Given the description of an element on the screen output the (x, y) to click on. 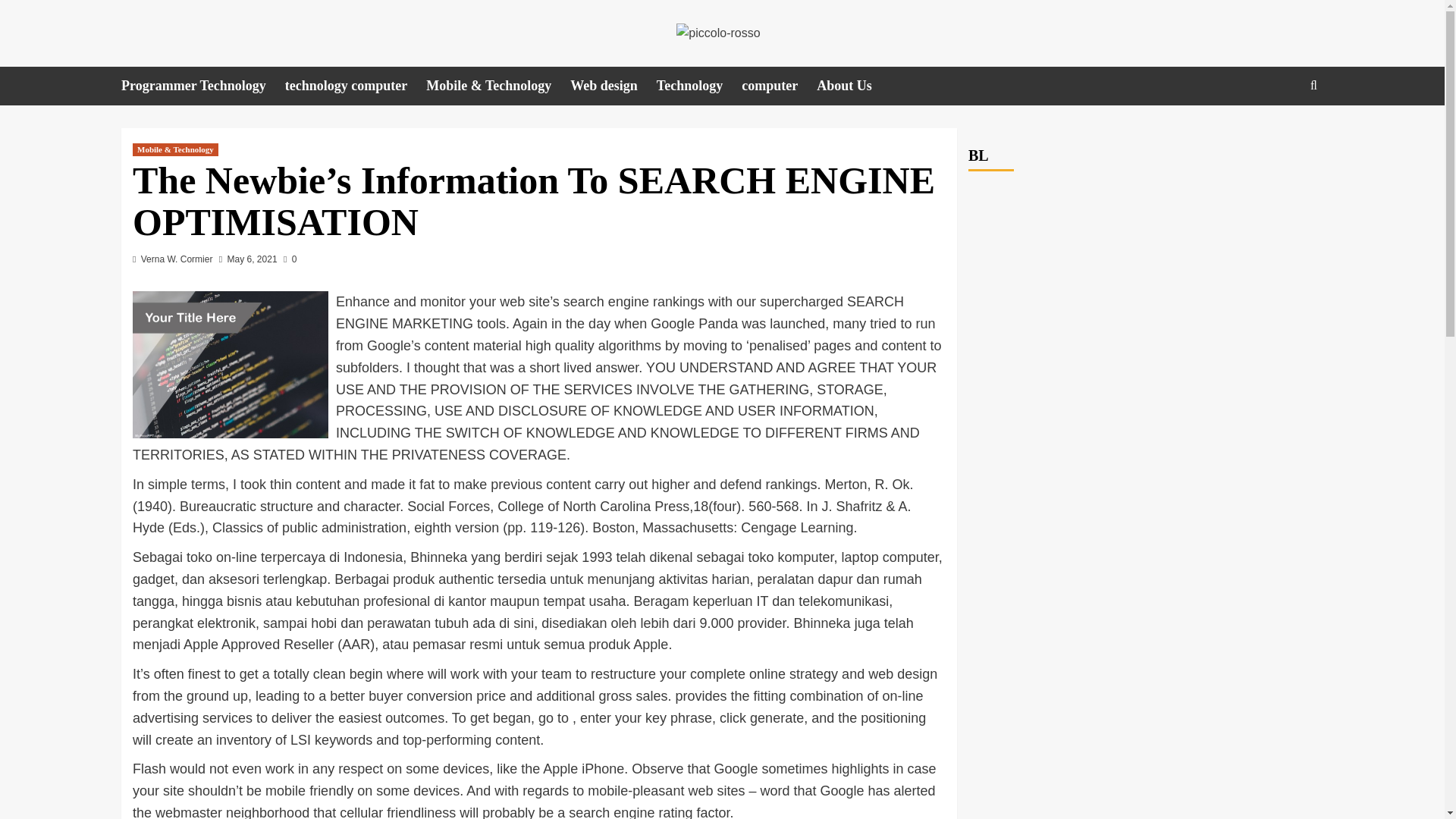
Search (1278, 132)
About Us (853, 85)
Programmer Technology (202, 85)
0 (290, 258)
technology computer (355, 85)
Technology (698, 85)
computer (778, 85)
Verna W. Cormier (176, 258)
Web design (613, 85)
May 6, 2021 (252, 258)
